Given the description of an element on the screen output the (x, y) to click on. 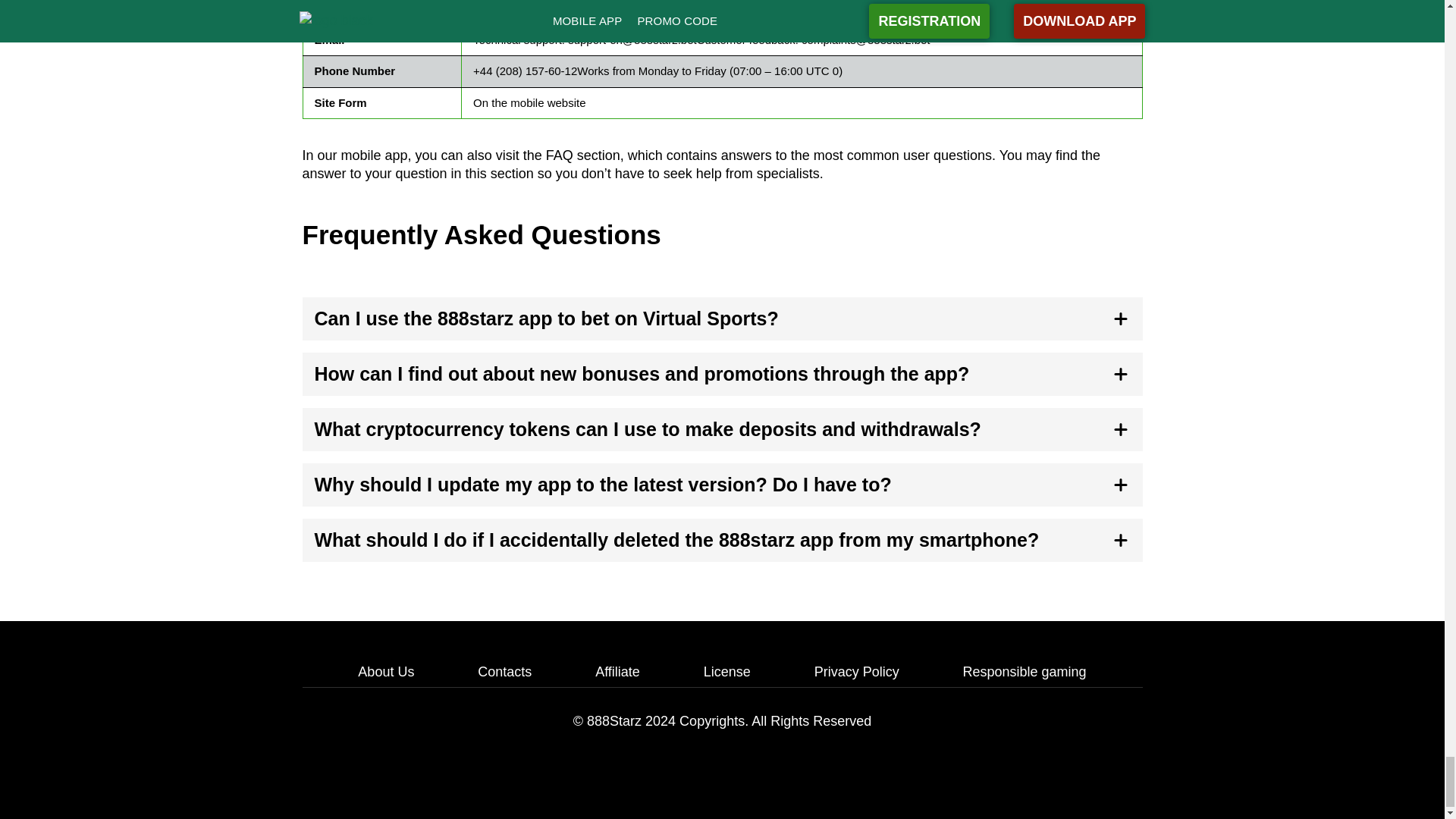
Contacts (504, 671)
License (727, 671)
About Us (385, 671)
Responsible gaming (1024, 671)
Affiliate (617, 671)
Privacy Policy (856, 671)
